Given the description of an element on the screen output the (x, y) to click on. 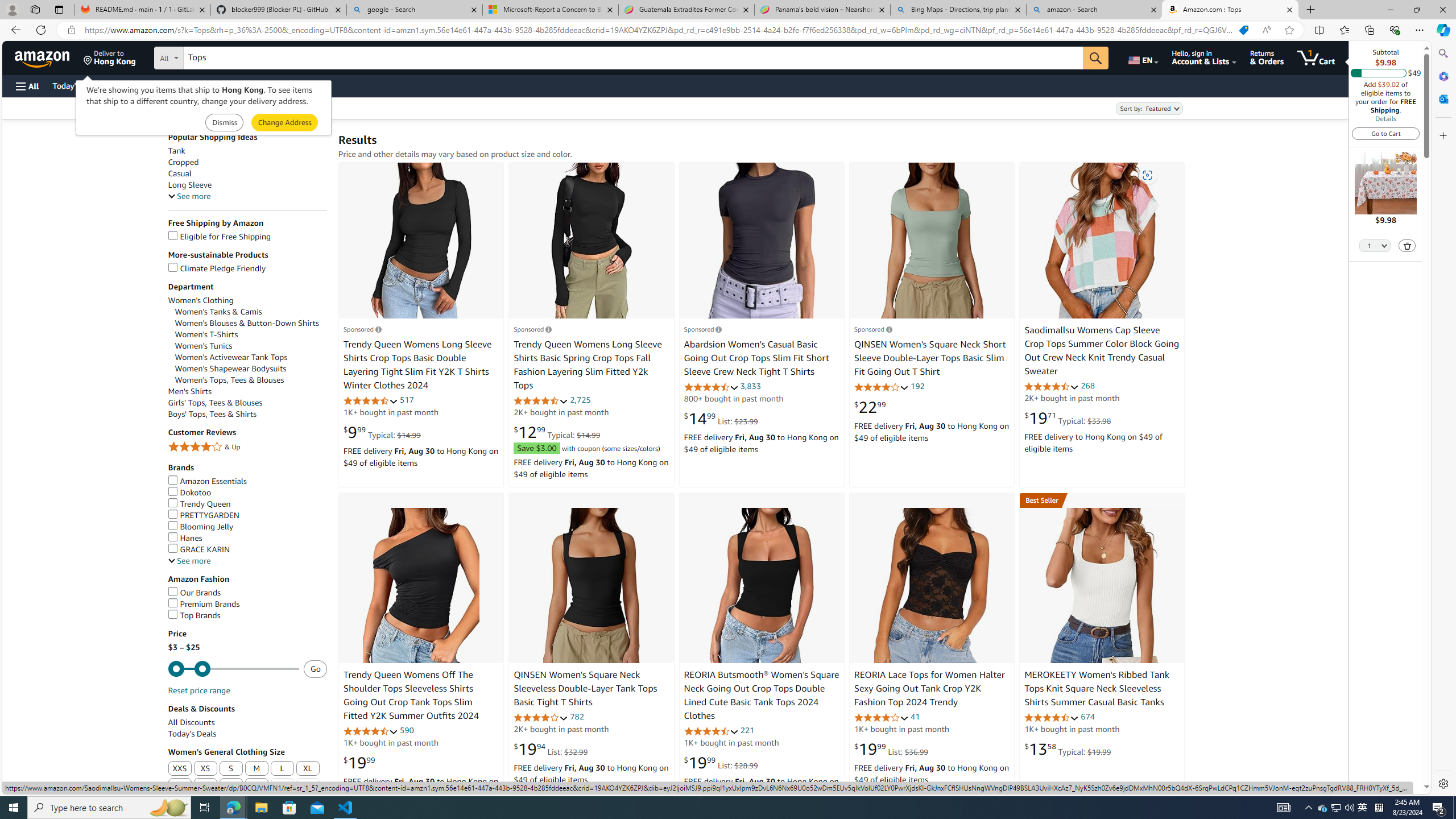
Go back to filtering menu (48, 788)
XXS (179, 769)
Sort by: (1148, 108)
S (230, 769)
Trendy Queen (247, 504)
Women's Tops, Tees & Blouses (228, 380)
6XL (282, 785)
XXL (179, 785)
2,725 (580, 399)
Eligible for Free Shipping (218, 236)
